Given the description of an element on the screen output the (x, y) to click on. 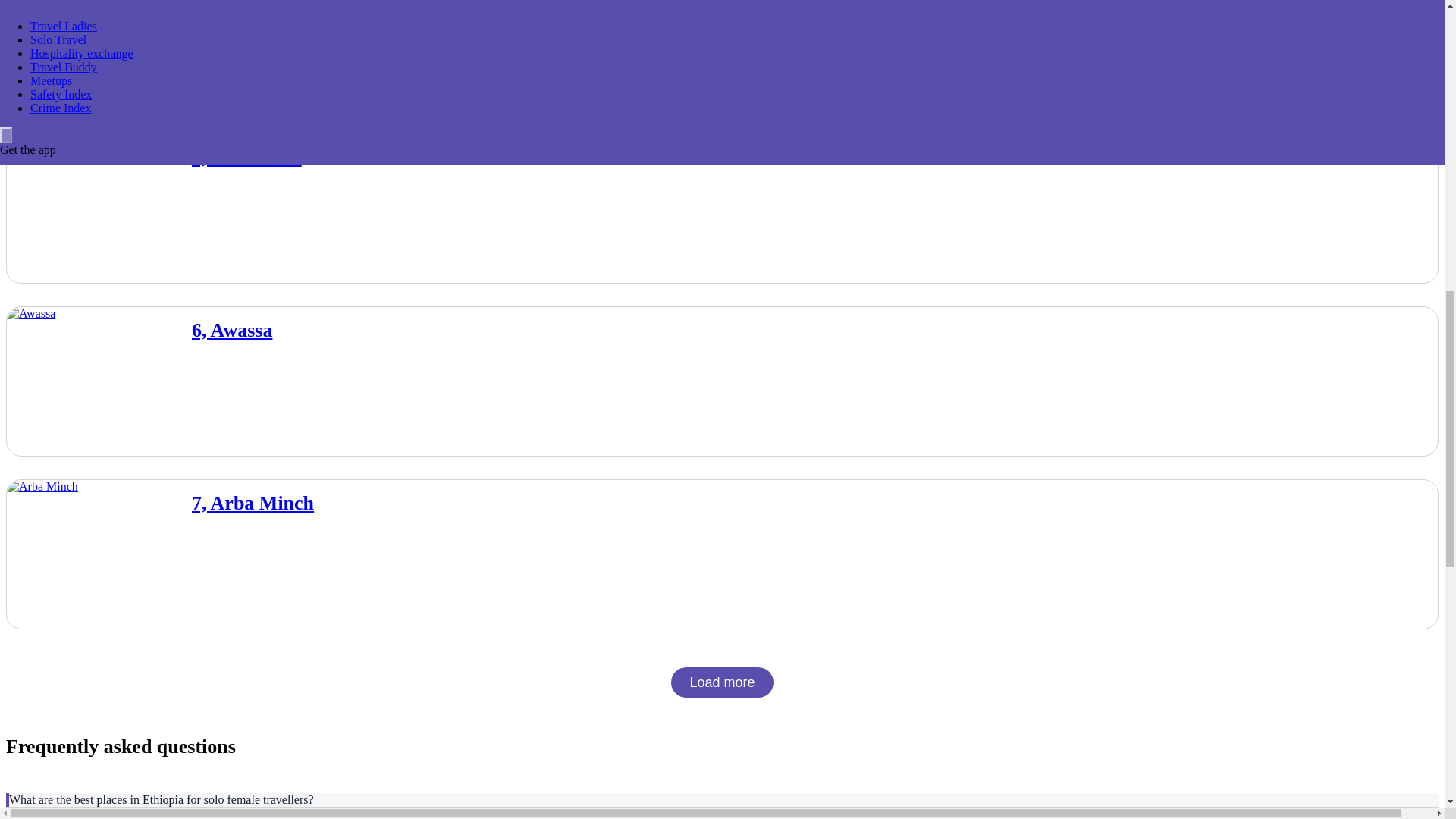
Load more (722, 682)
